Given the description of an element on the screen output the (x, y) to click on. 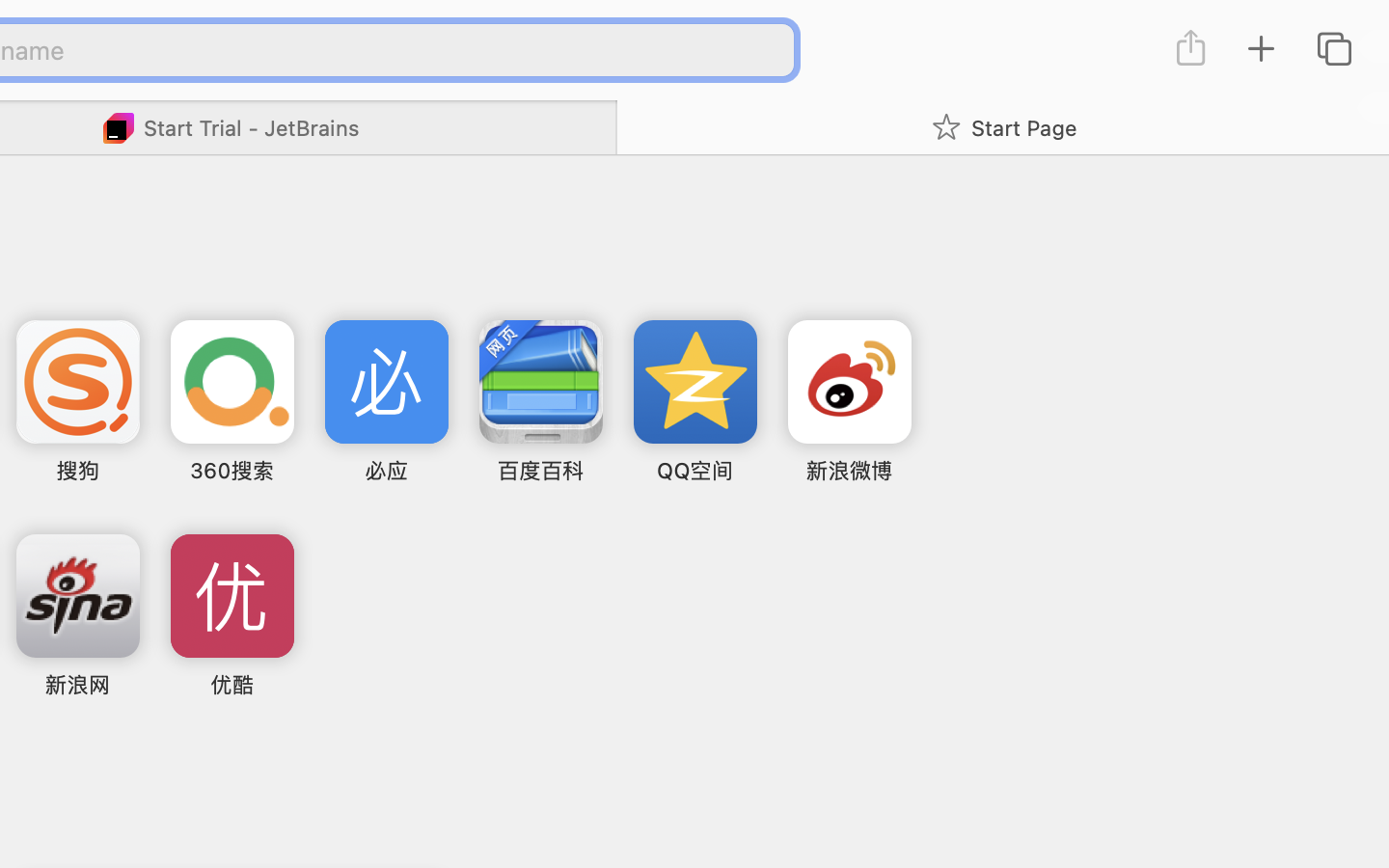
360搜索 Element type: AXButton (231, 470)
搜狗 Element type: AXButton (76, 470)
新浪网 Element type: AXButton (76, 684)
